Given the description of an element on the screen output the (x, y) to click on. 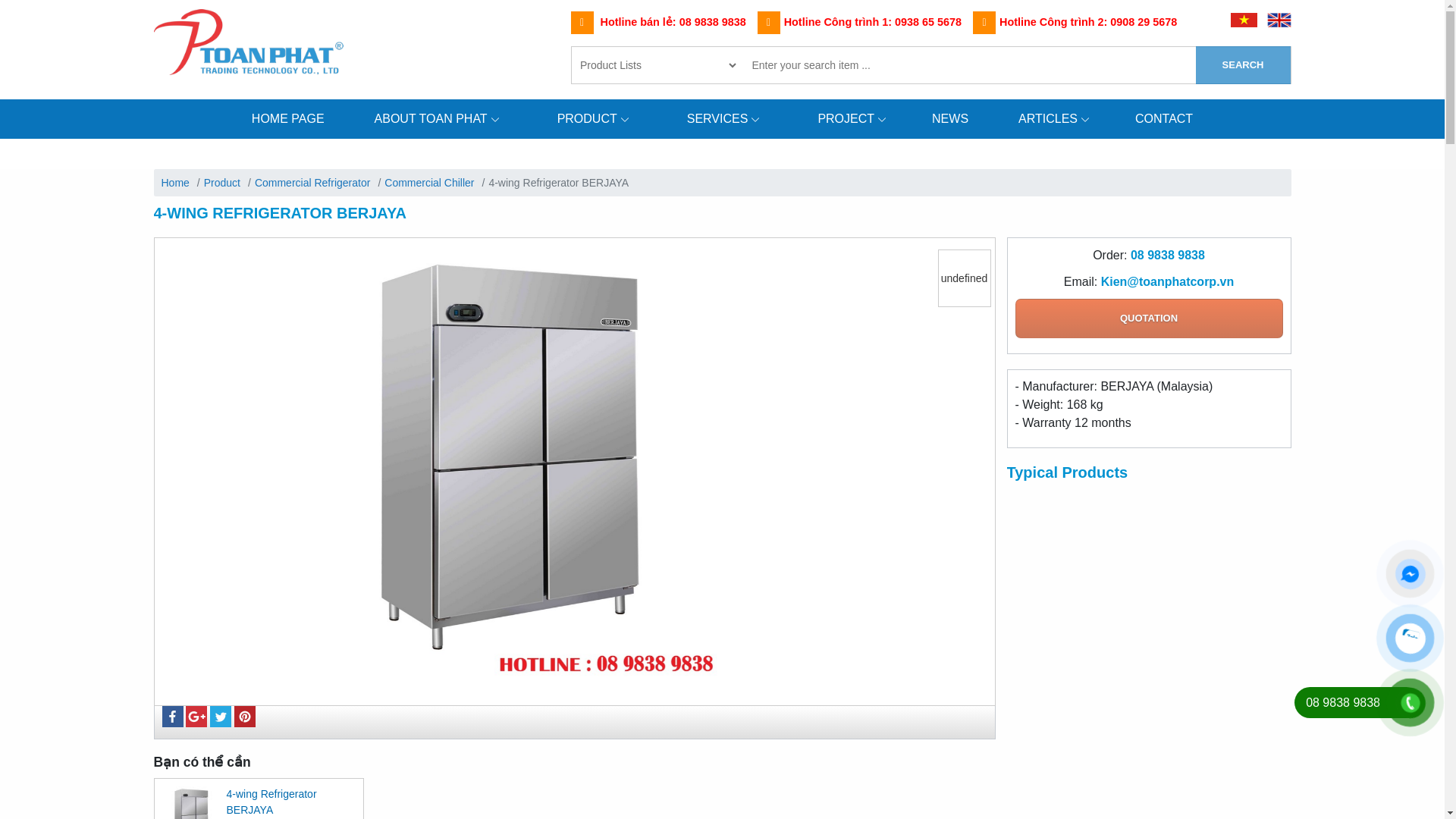
SEARCH (1242, 64)
ABOUT TOAN PHAT (431, 118)
4-wing Refrigerator BERJAYA (270, 801)
HOME PAGE (288, 118)
PRODUCT (587, 118)
Quotation (1148, 317)
